Given the description of an element on the screen output the (x, y) to click on. 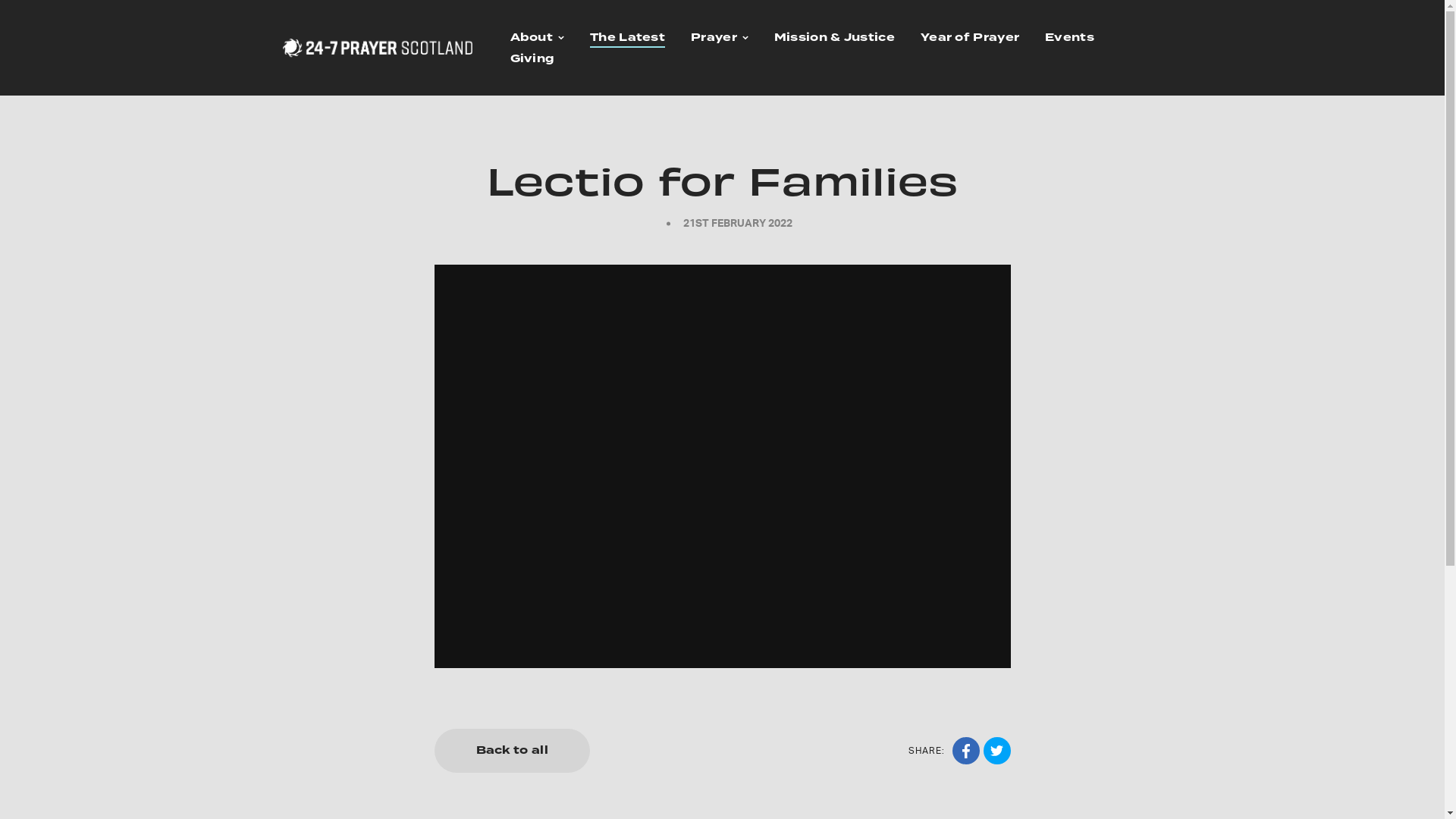
Events Element type: text (1069, 38)
Mission & Justice Element type: text (834, 38)
Prayer Element type: text (713, 38)
About Element type: text (530, 38)
Year of Prayer Element type: text (969, 38)
The Latest Element type: text (627, 38)
Giving Element type: text (531, 59)
